Given the description of an element on the screen output the (x, y) to click on. 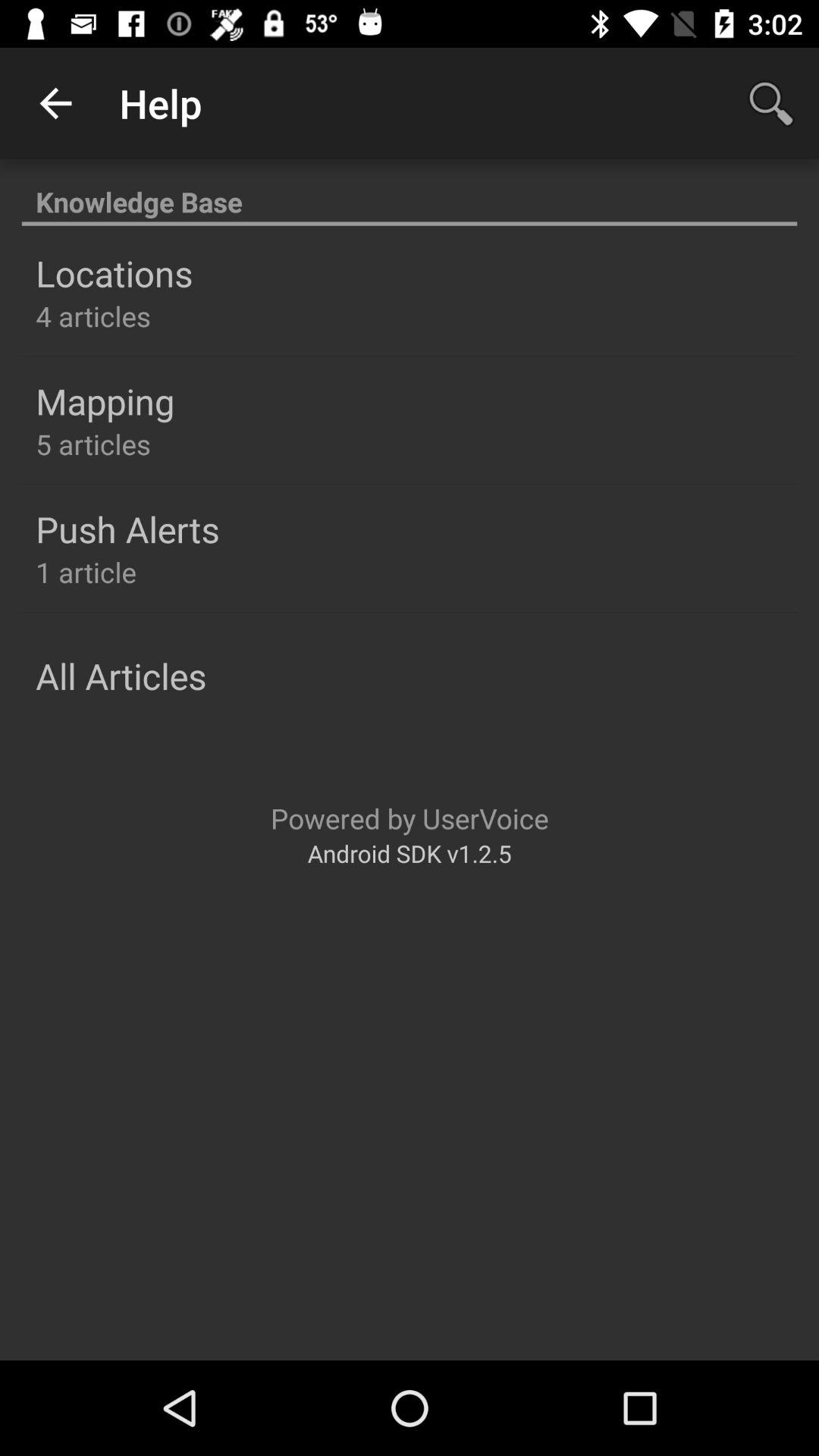
turn on knowledge base item (409, 193)
